Given the description of an element on the screen output the (x, y) to click on. 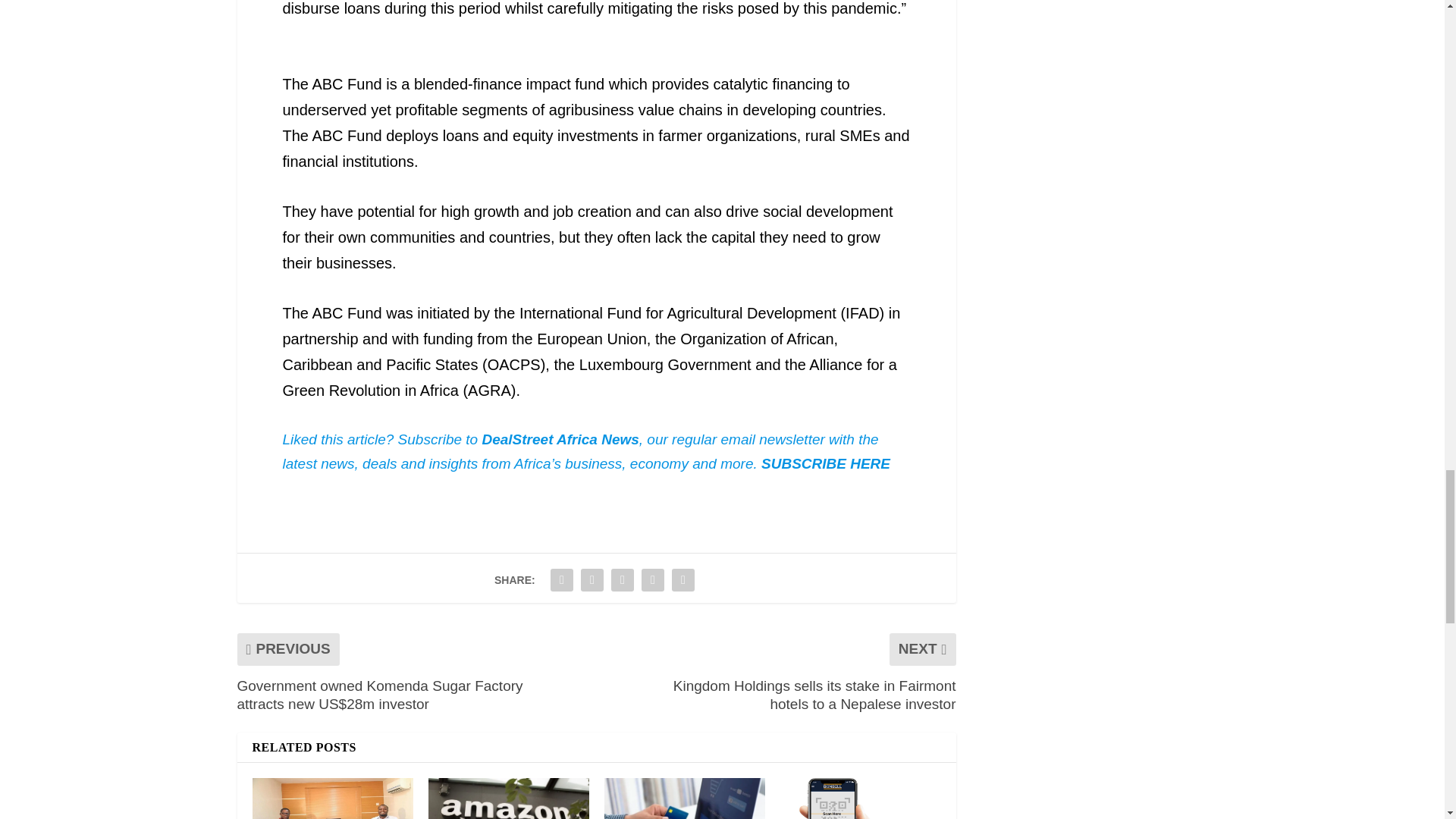
Tunisia seeks to boost e-commerce to curb cash use (684, 798)
